Given the description of an element on the screen output the (x, y) to click on. 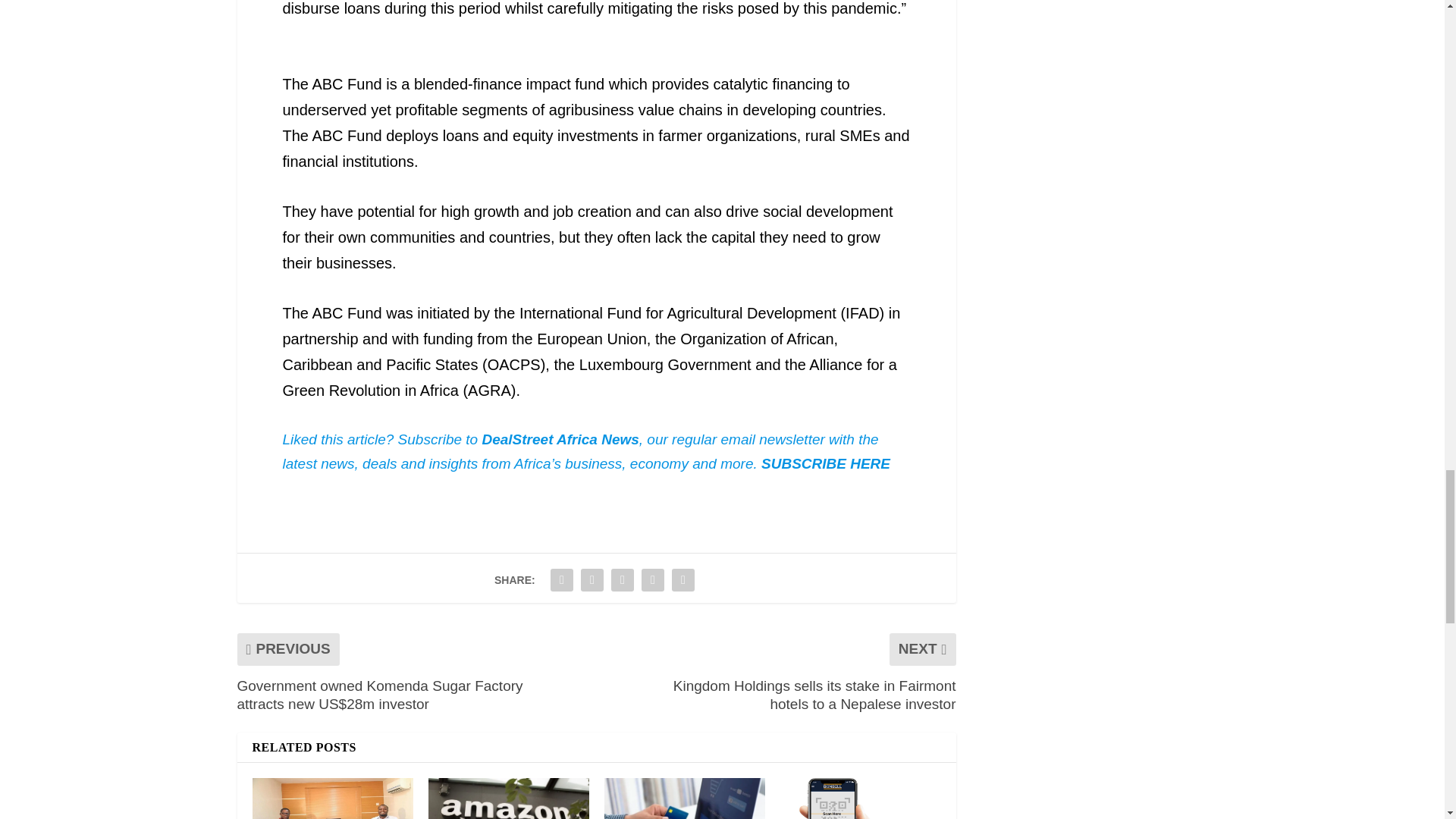
Tunisia seeks to boost e-commerce to curb cash use (684, 798)
